Given the description of an element on the screen output the (x, y) to click on. 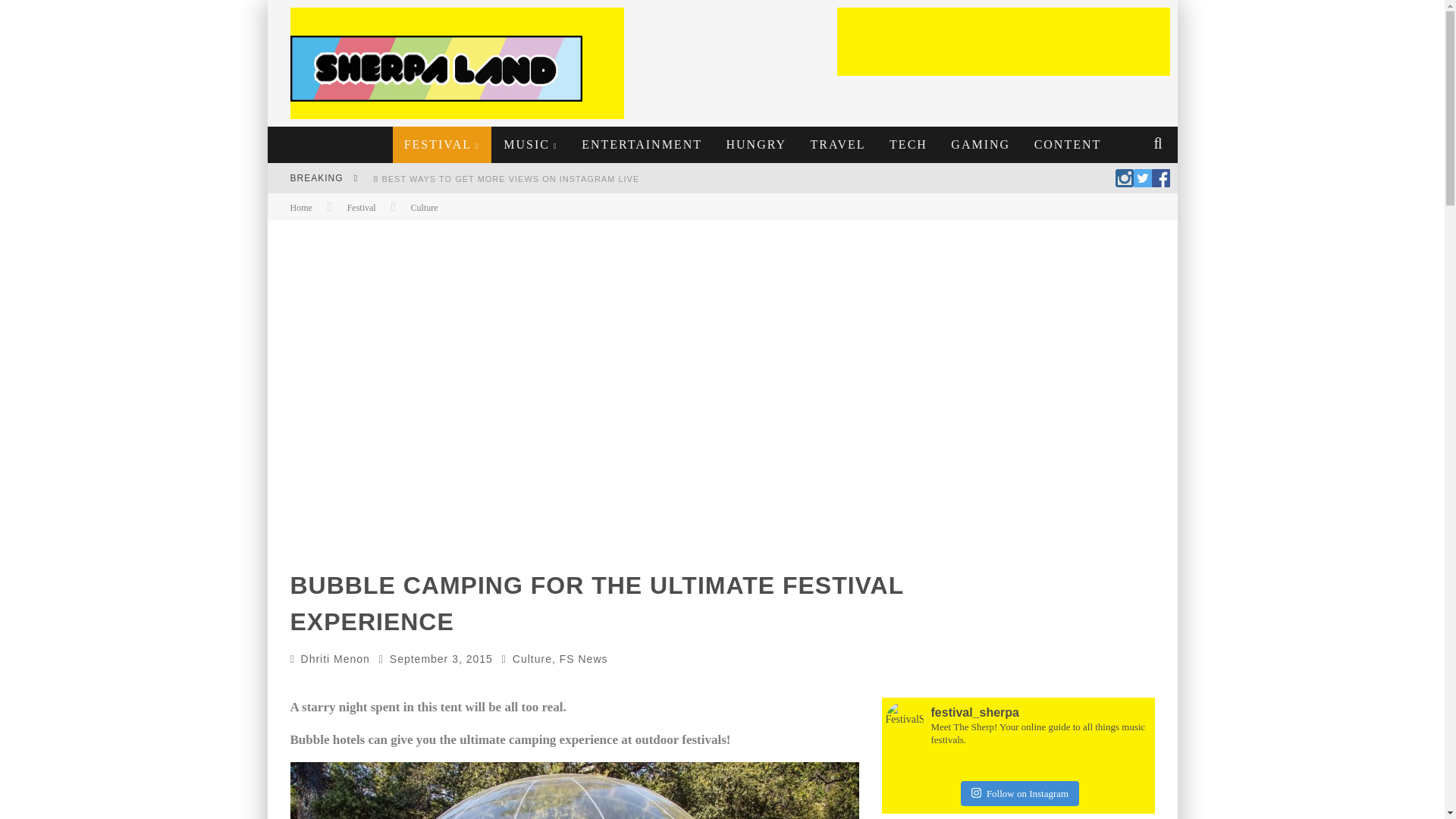
FESTIVAL (442, 144)
Log In (721, 470)
8 Best Ways to Get More Views on Instagram Live (505, 178)
View all posts in Festival (361, 207)
